Given the description of an element on the screen output the (x, y) to click on. 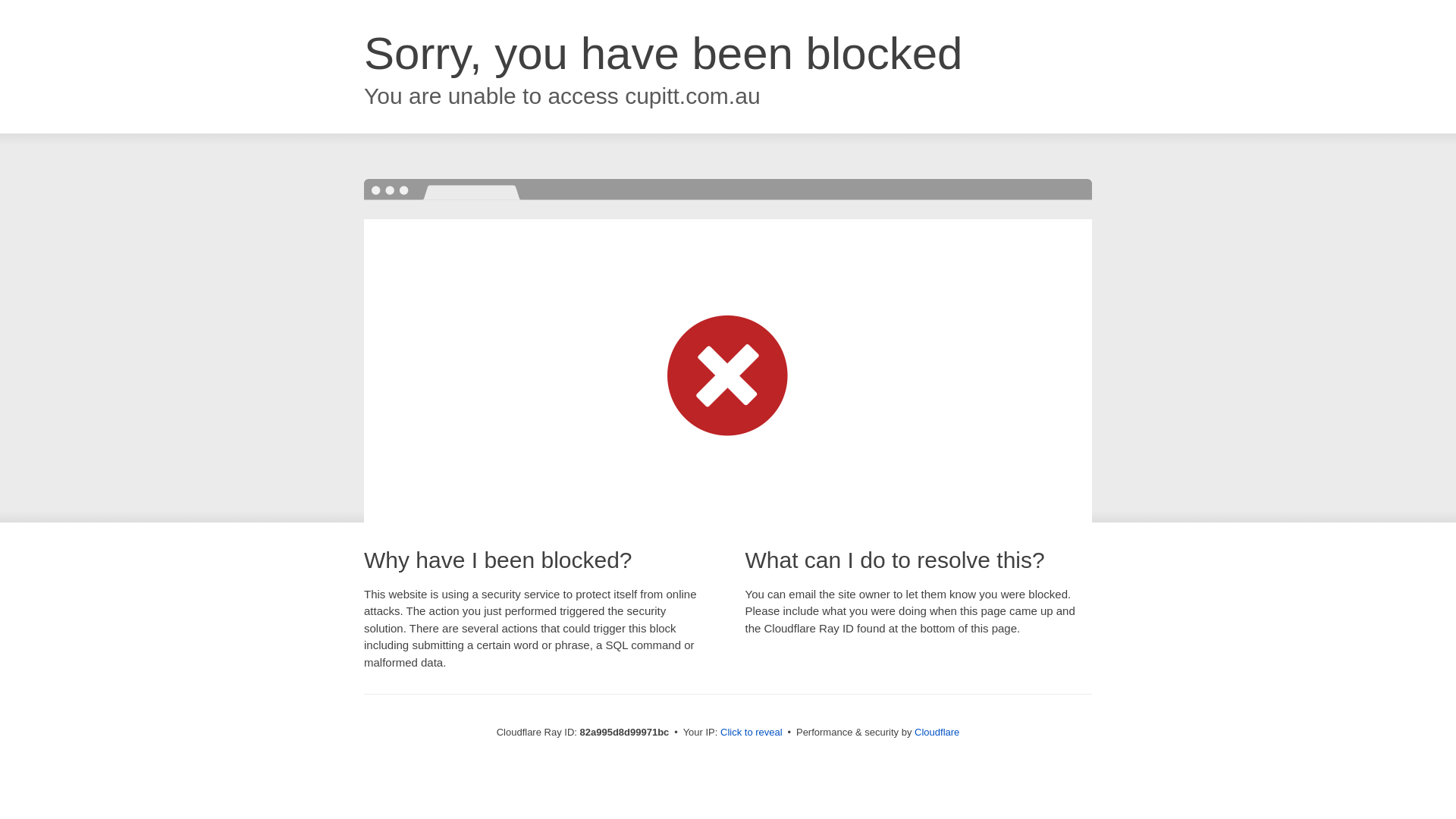
Click to reveal Element type: text (751, 732)
Cloudflare Element type: text (936, 731)
